Given the description of an element on the screen output the (x, y) to click on. 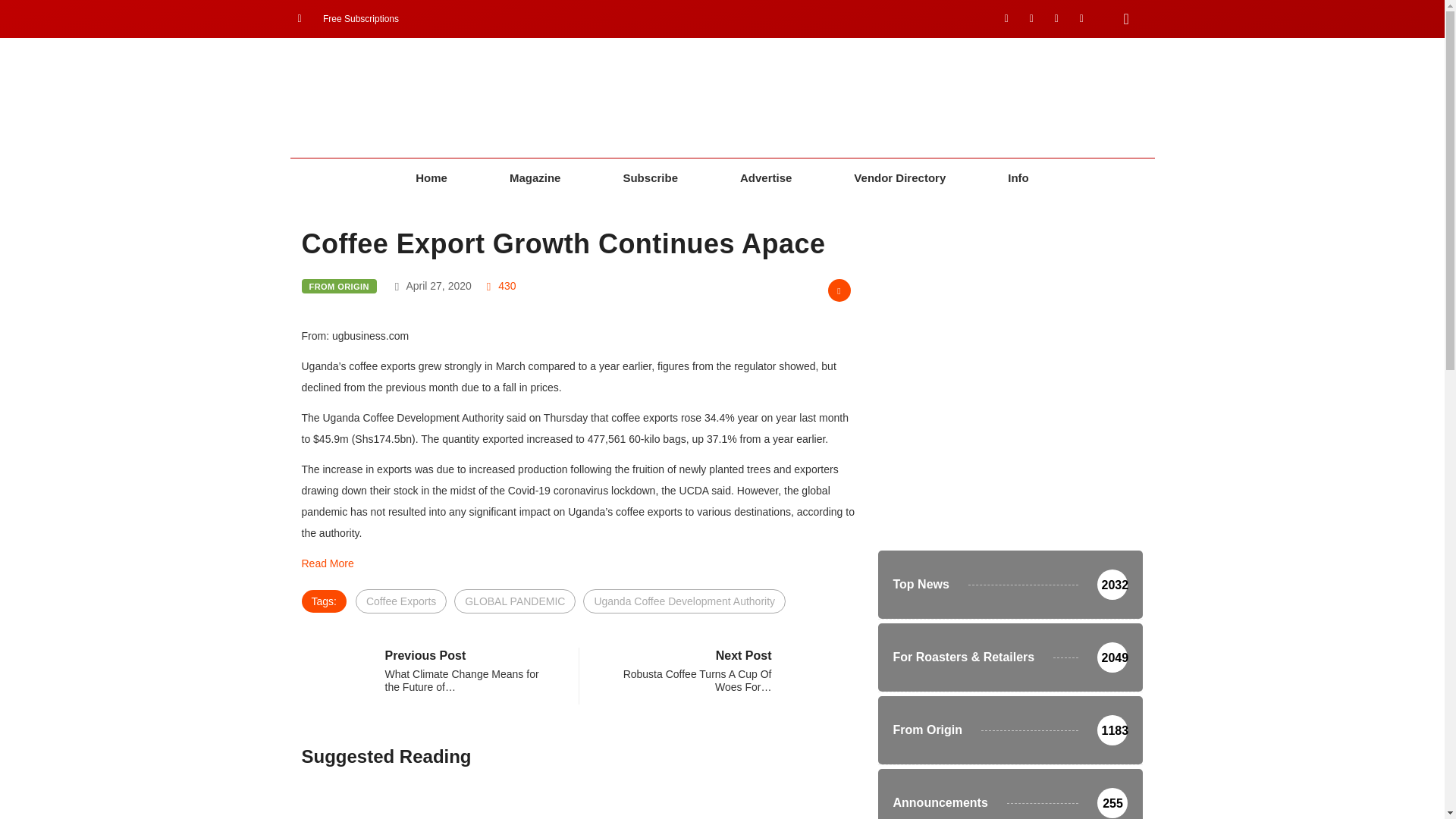
Magazine (535, 178)
Free Subscriptions (347, 18)
Home (431, 178)
